Given the description of an element on the screen output the (x, y) to click on. 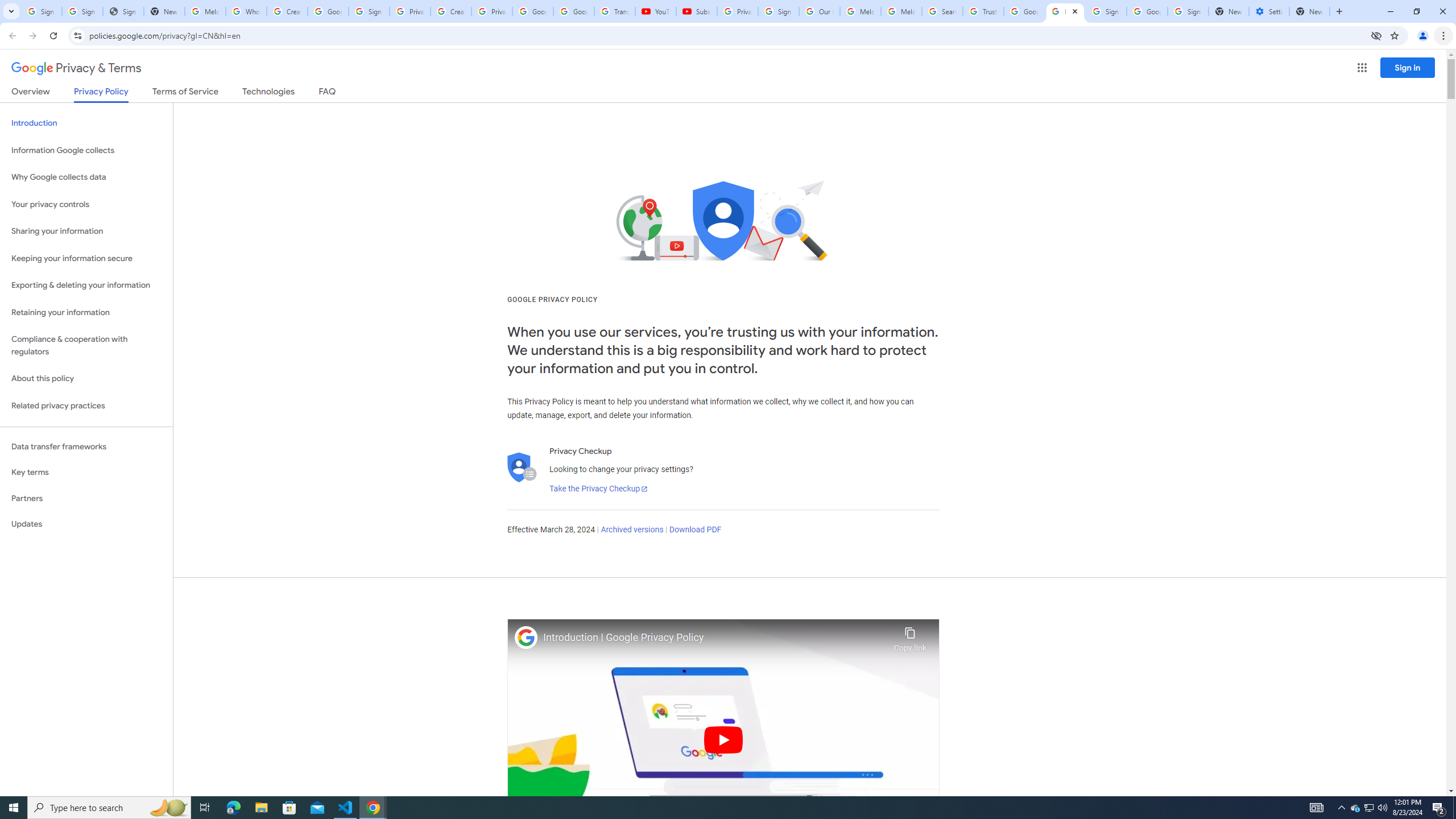
Copy link (909, 636)
Create your Google Account (450, 11)
Sign in - Google Accounts (777, 11)
